Given the description of an element on the screen output the (x, y) to click on. 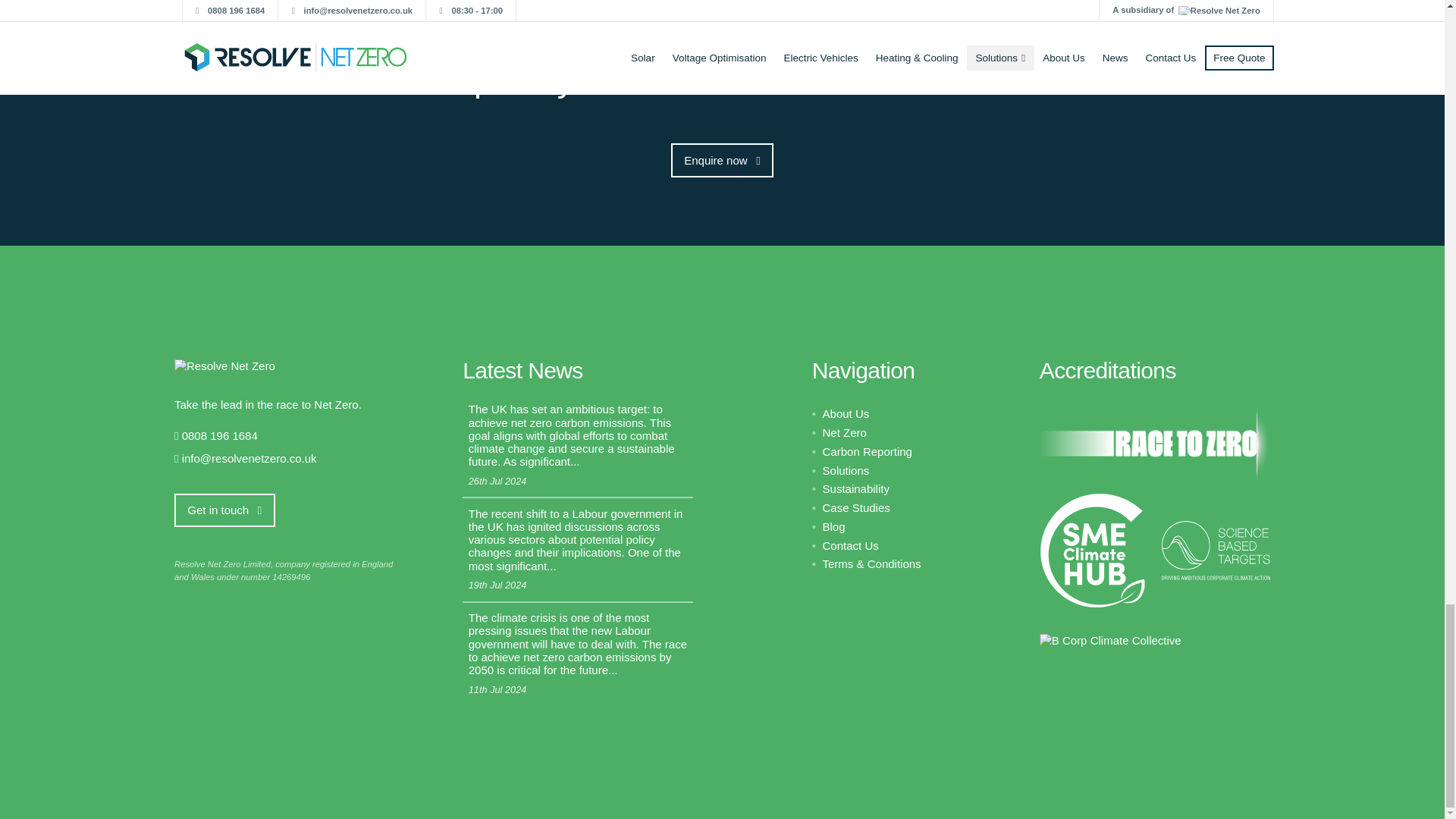
Enquire now (722, 159)
0808 196 1684 (219, 435)
How the Labour Government will reach net zero goals (578, 653)
Get in touch (224, 510)
Could solar energy in the UK be getting a boost? (578, 549)
How UK Businesses Can Help Achieve Net Zero by 2030 (578, 445)
